Given the description of an element on the screen output the (x, y) to click on. 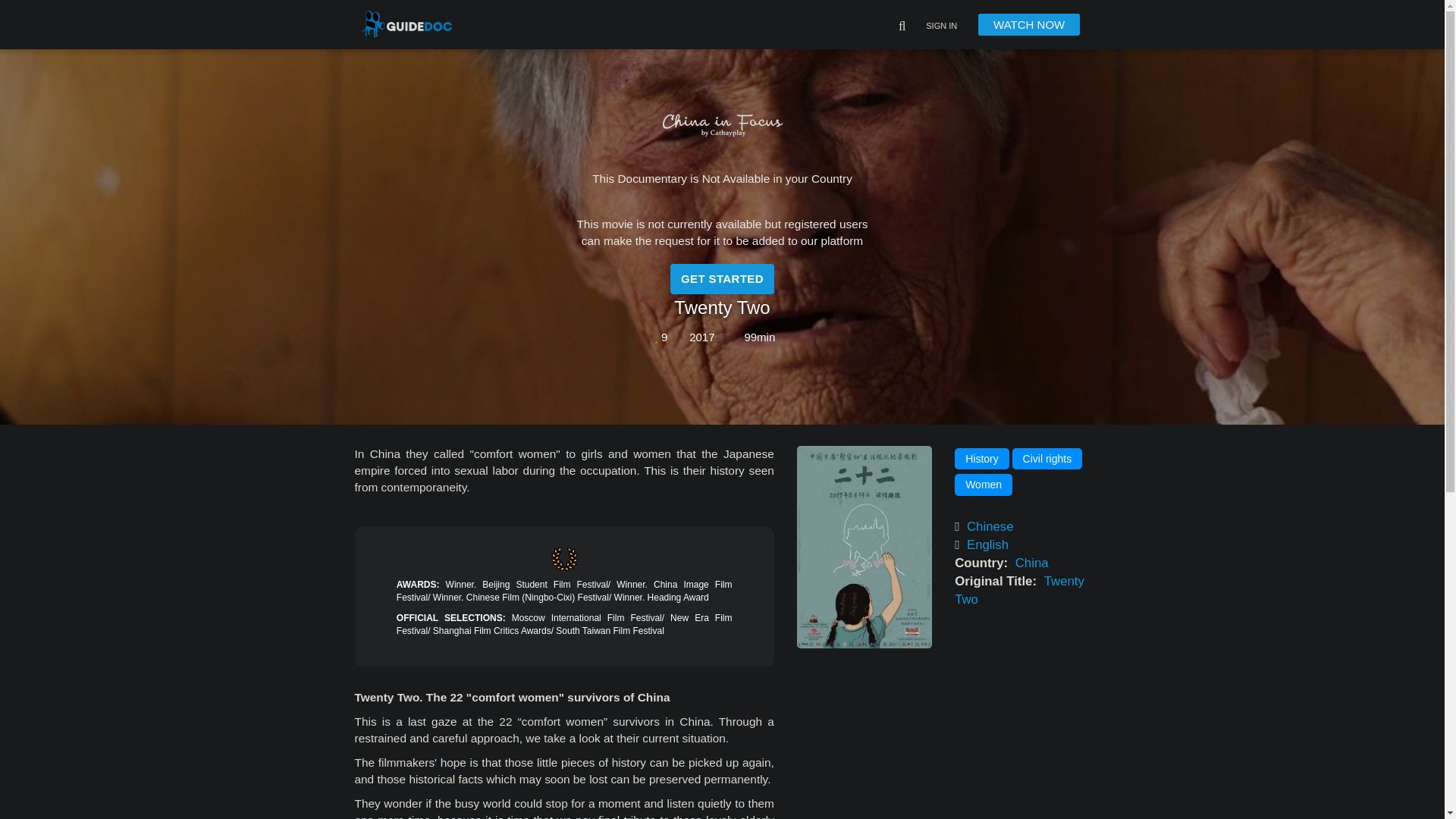
Civil rights (1047, 458)
SIGN IN (941, 26)
China (1031, 563)
GET STARTED (721, 278)
History (982, 458)
Chinese (989, 526)
English (986, 544)
Women (983, 485)
WATCH NOW (1029, 24)
